Given the description of an element on the screen output the (x, y) to click on. 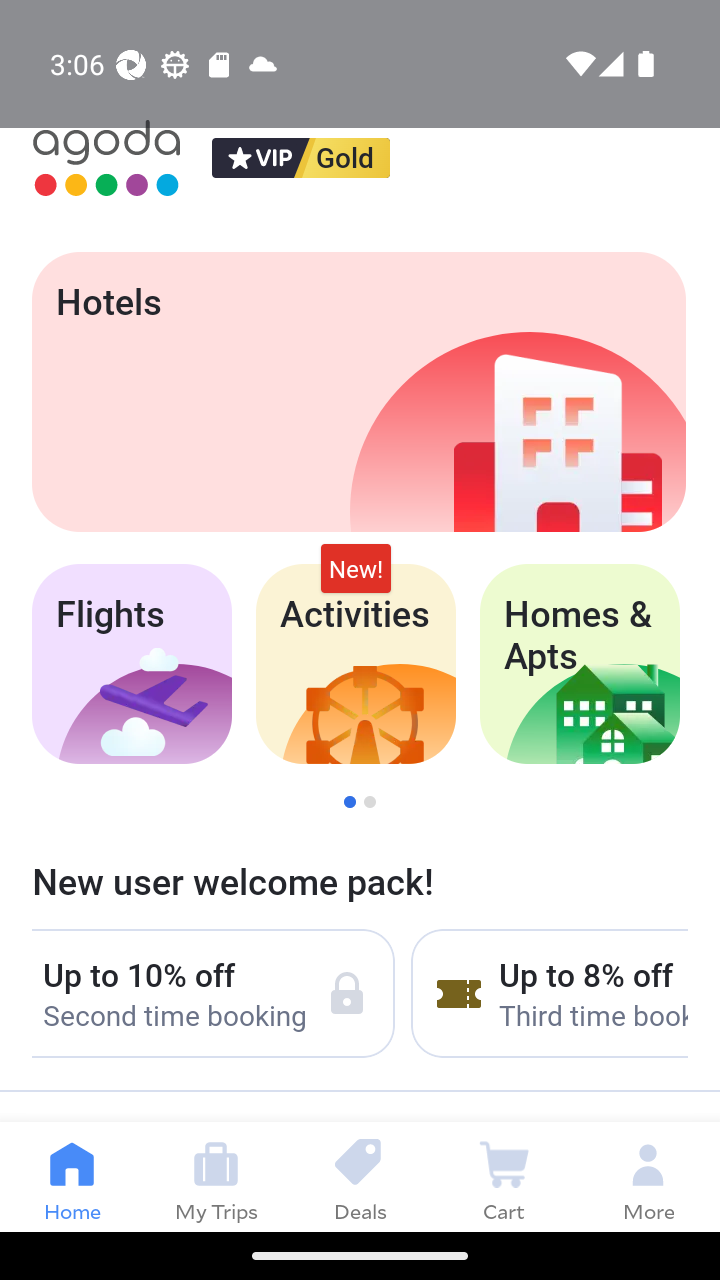
Hotels (358, 392)
New! (355, 568)
Flights (131, 664)
Activities (355, 664)
Homes & Apts (579, 664)
Home (72, 1176)
My Trips (216, 1176)
Deals (360, 1176)
Cart (504, 1176)
More (648, 1176)
